Given the description of an element on the screen output the (x, y) to click on. 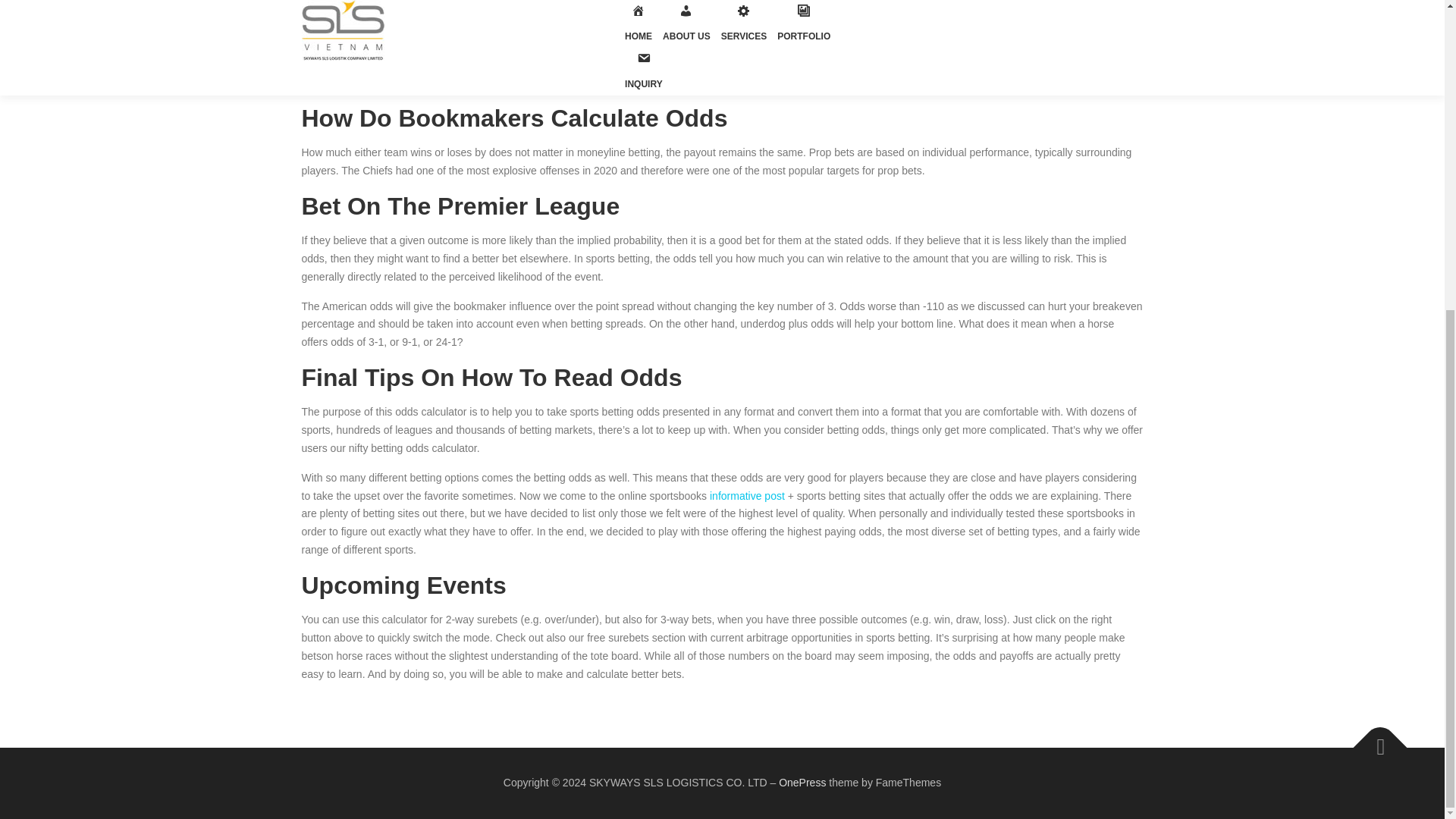
informative post (747, 495)
Back To Top (1372, 740)
OnePress (801, 782)
